Given the description of an element on the screen output the (x, y) to click on. 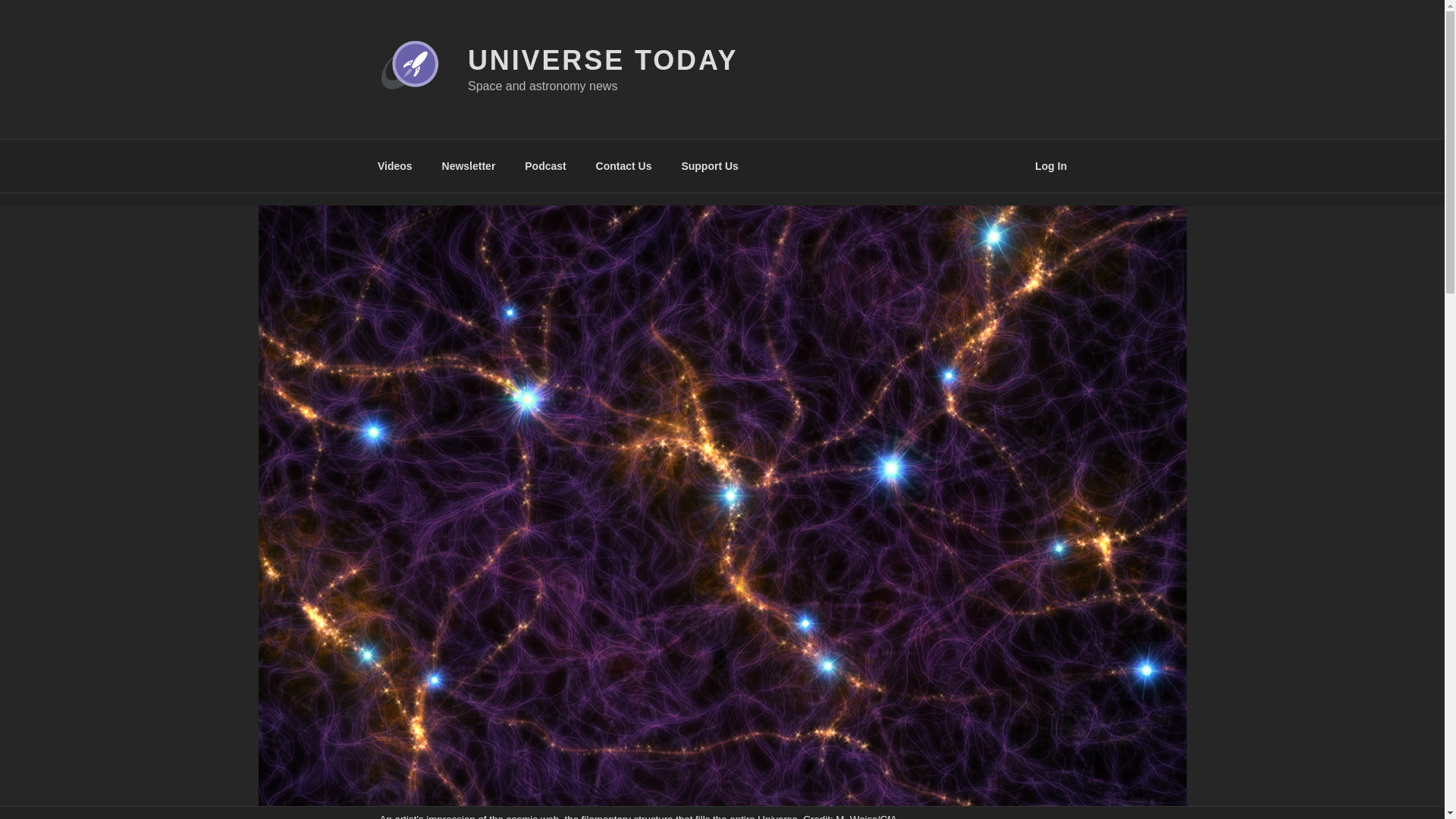
UNIVERSE TODAY (602, 60)
Support Us (709, 165)
Videos (394, 165)
Newsletter (468, 165)
Contact Us (623, 165)
Log In (1051, 165)
Podcast (545, 165)
